Given the description of an element on the screen output the (x, y) to click on. 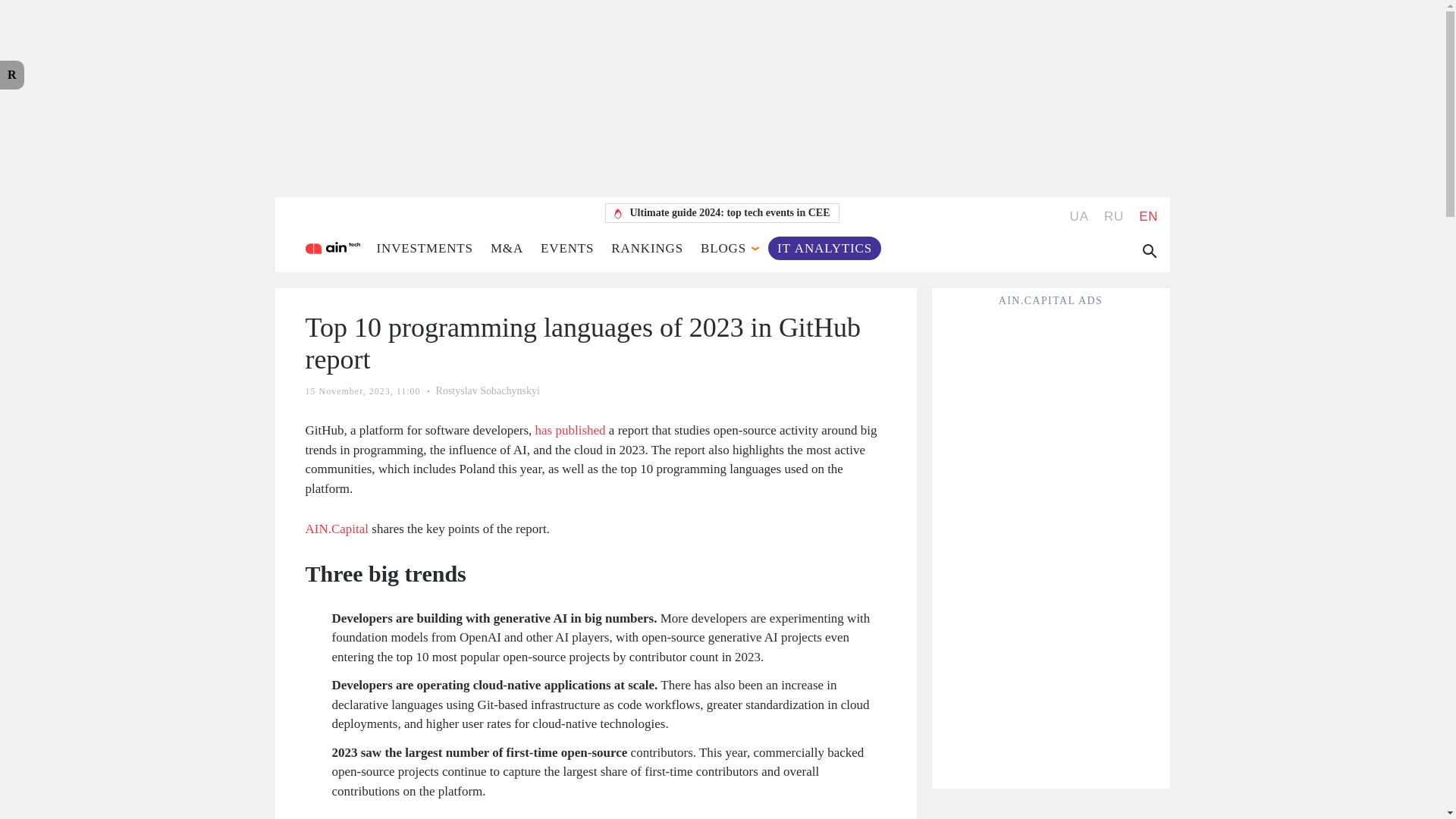
EN (1147, 216)
INVESTMENTS (423, 247)
EVENTS (567, 247)
Ultimate guide 2024: top tech events in CEE (721, 212)
RANKINGS (646, 247)
RU (1113, 216)
UA (1079, 216)
BLOGS (722, 247)
